Given the description of an element on the screen output the (x, y) to click on. 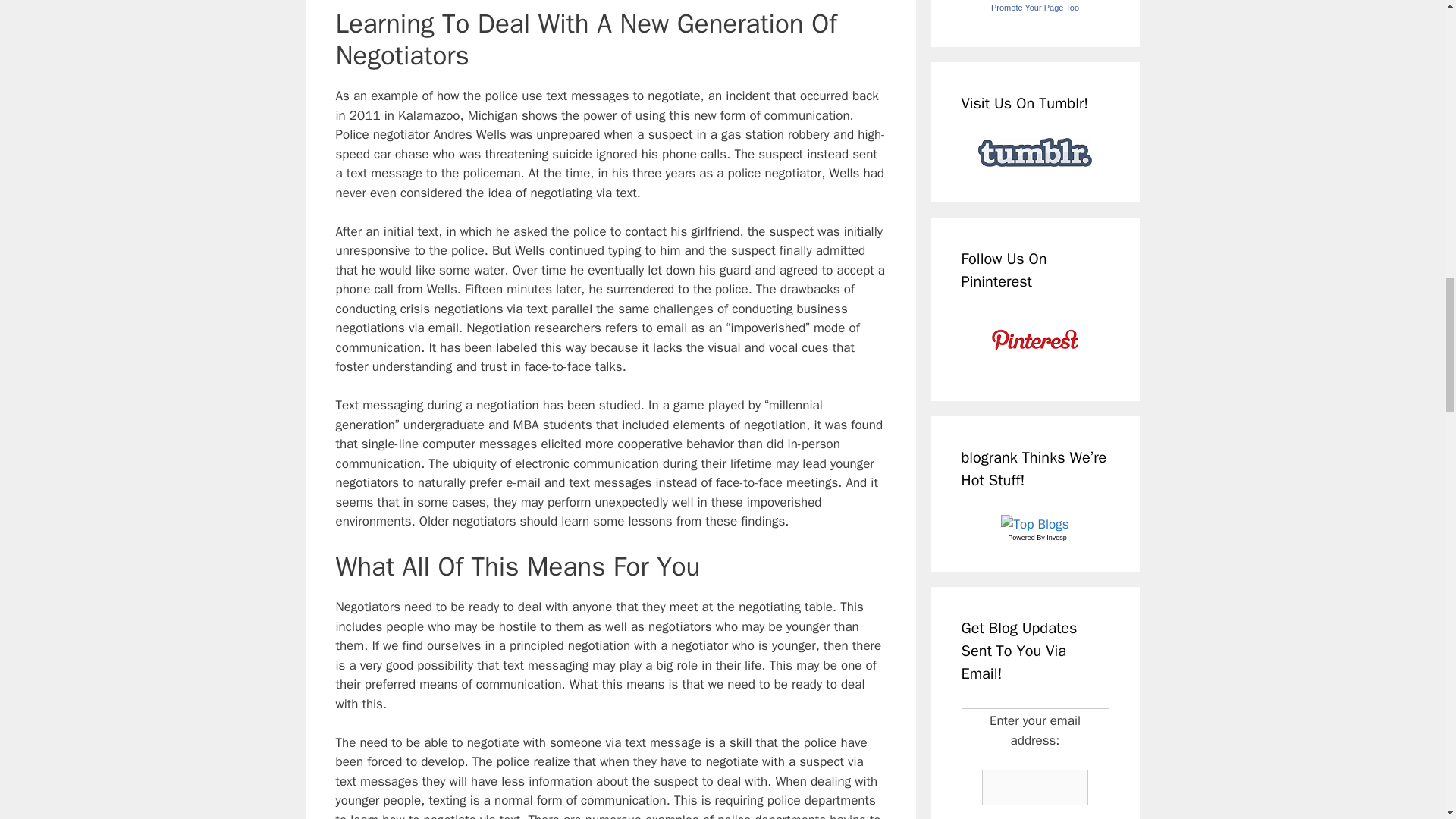
Make your own badge! (1034, 7)
